Given the description of an element on the screen output the (x, y) to click on. 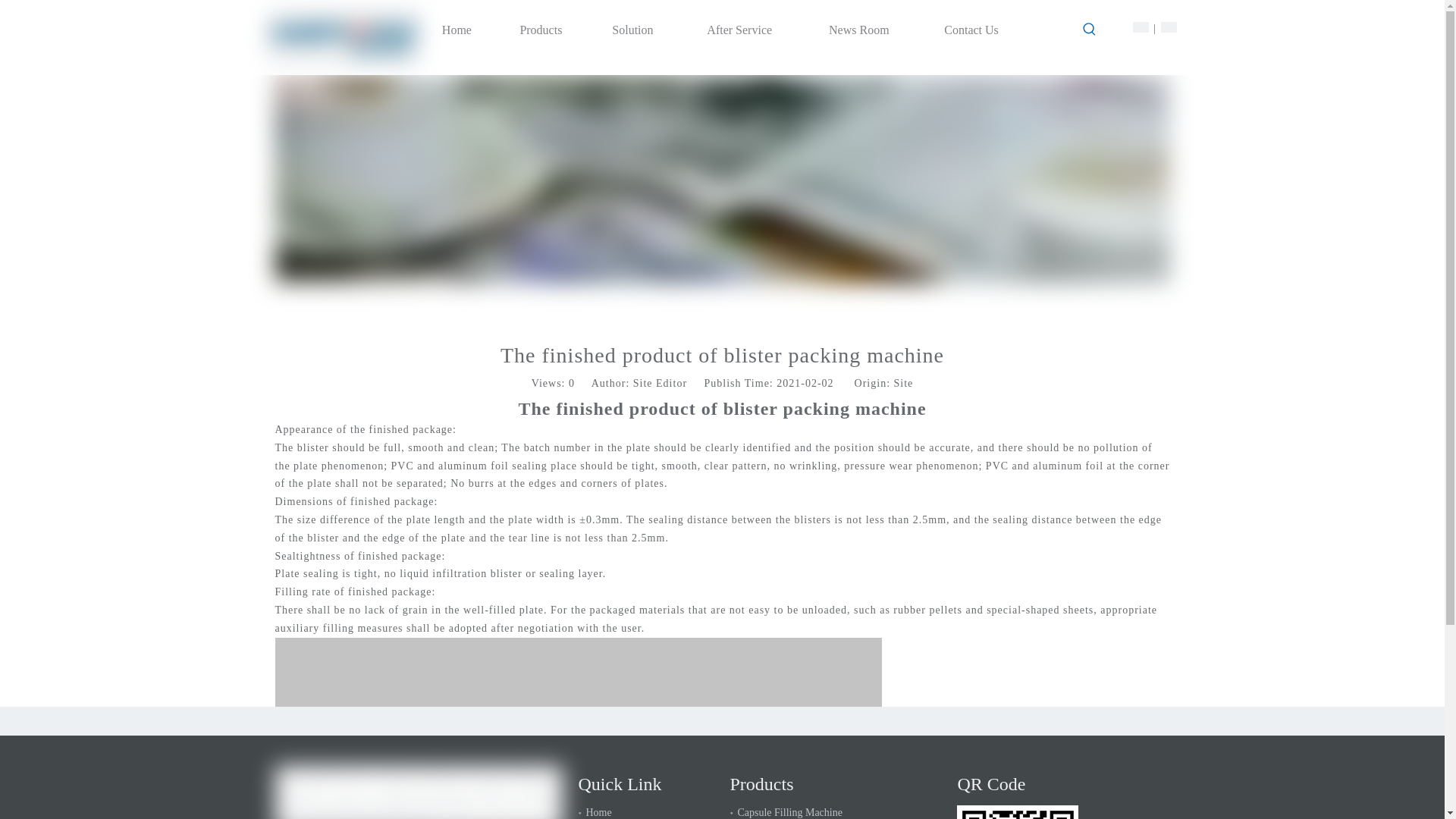
Home (456, 30)
Linkedin (1127, 721)
Twitter (1097, 721)
Capsule Filling Machine, Blister Packing Machine (342, 37)
Products (540, 30)
Home (598, 812)
Facebook (1039, 721)
Capsule Filling Machine, Blister Packing Machine (418, 792)
Capsule Filling Machine (788, 812)
